Given the description of an element on the screen output the (x, y) to click on. 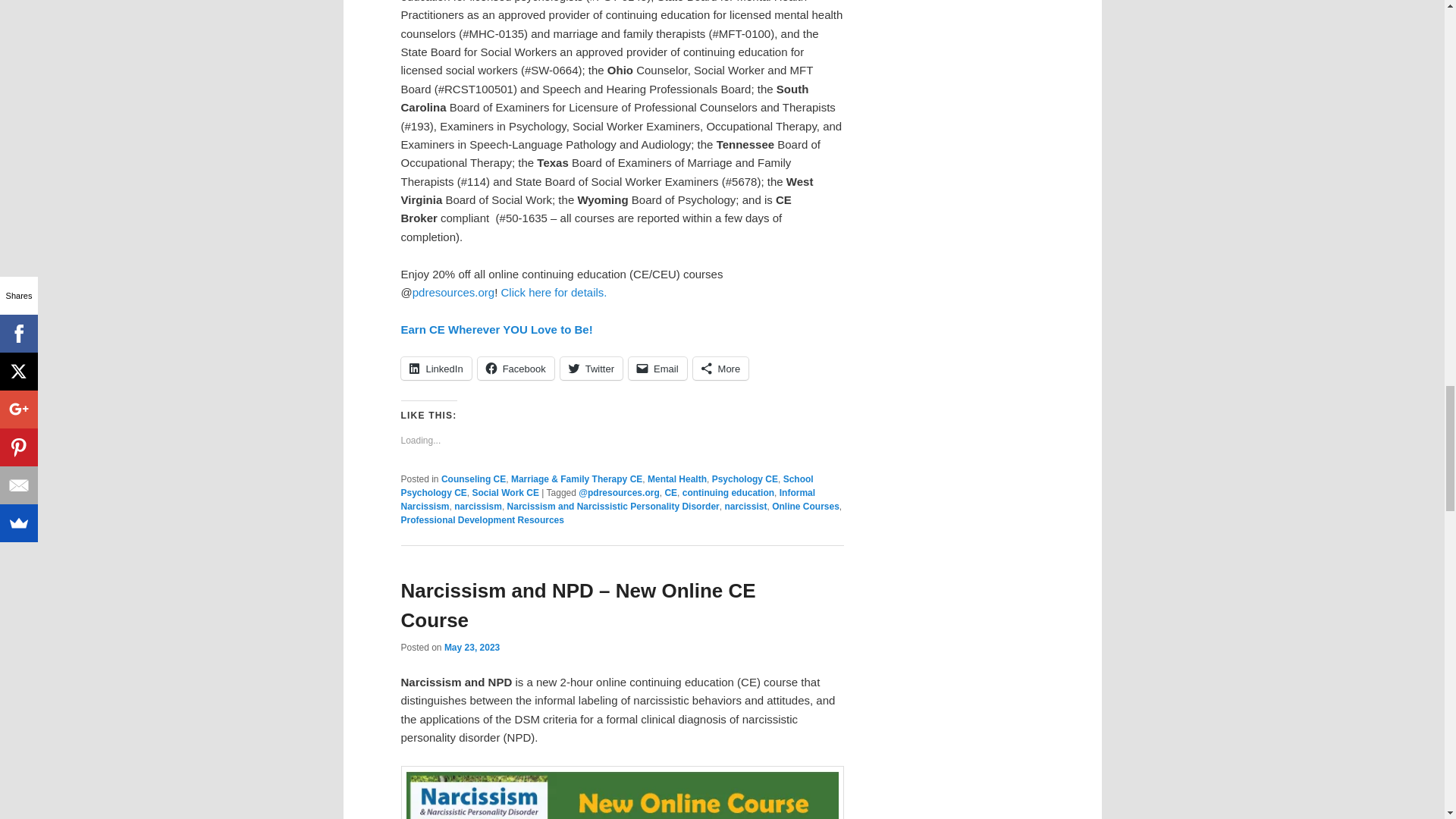
Twitter (591, 368)
Psychology CE (744, 479)
CE (670, 492)
Mental Health (676, 479)
LinkedIn (435, 368)
School Psychology CE (606, 485)
Earn CE Wherever YOU Love to Be! (496, 328)
More (721, 368)
Counseling CE (473, 479)
Social Work CE (504, 492)
Click to email a link to a friend (657, 368)
6:00 pm (471, 647)
pdresources.org (453, 291)
narcissism (478, 506)
Click here for details. (553, 291)
